Given the description of an element on the screen output the (x, y) to click on. 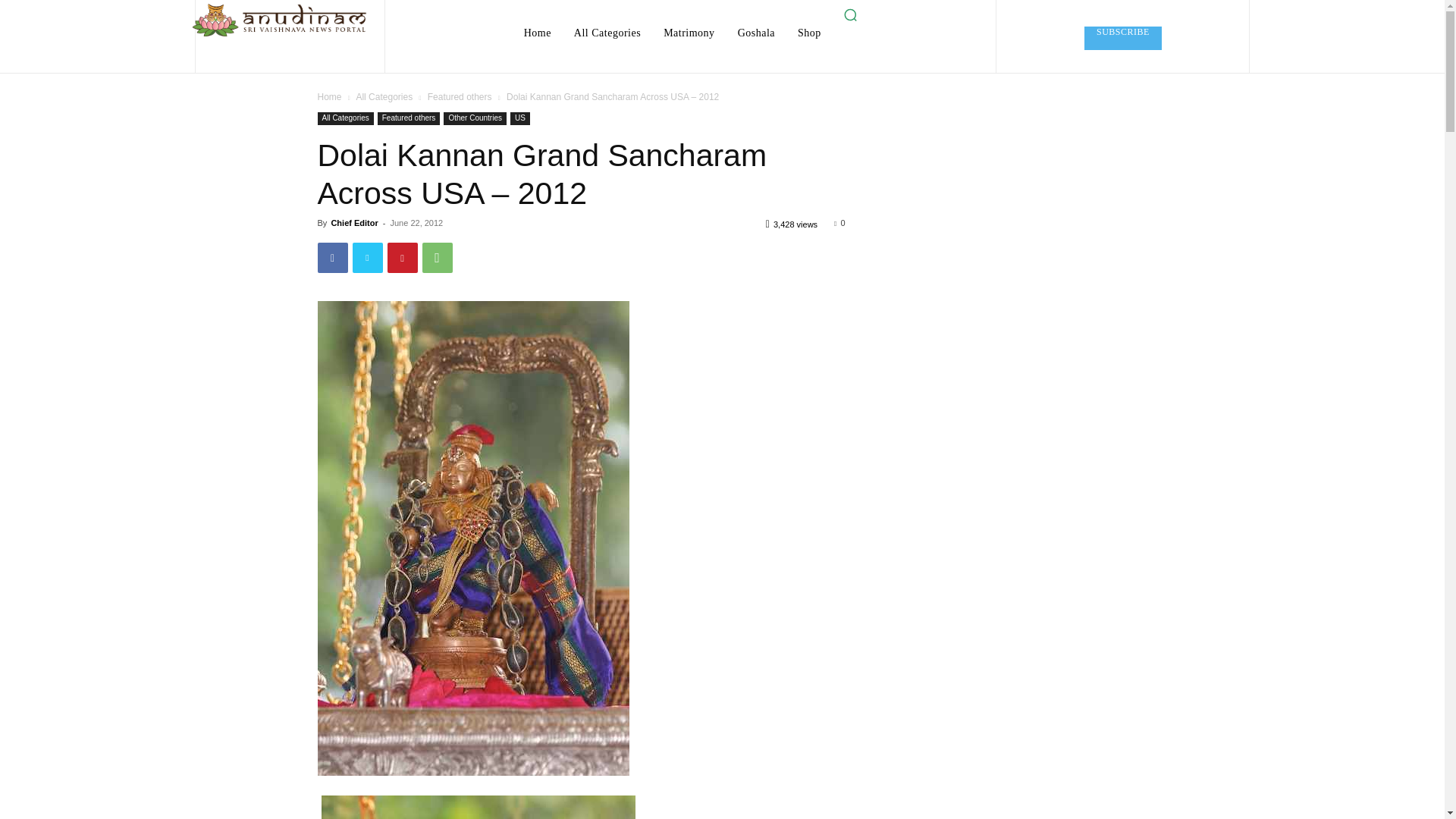
WhatsApp (436, 257)
Twitter (366, 257)
View all posts in All Categories (383, 96)
Pinterest (401, 257)
All Categories (606, 33)
Facebook (332, 257)
View all posts in Featured others (460, 96)
ishot-1206214 (477, 807)
